Given the description of an element on the screen output the (x, y) to click on. 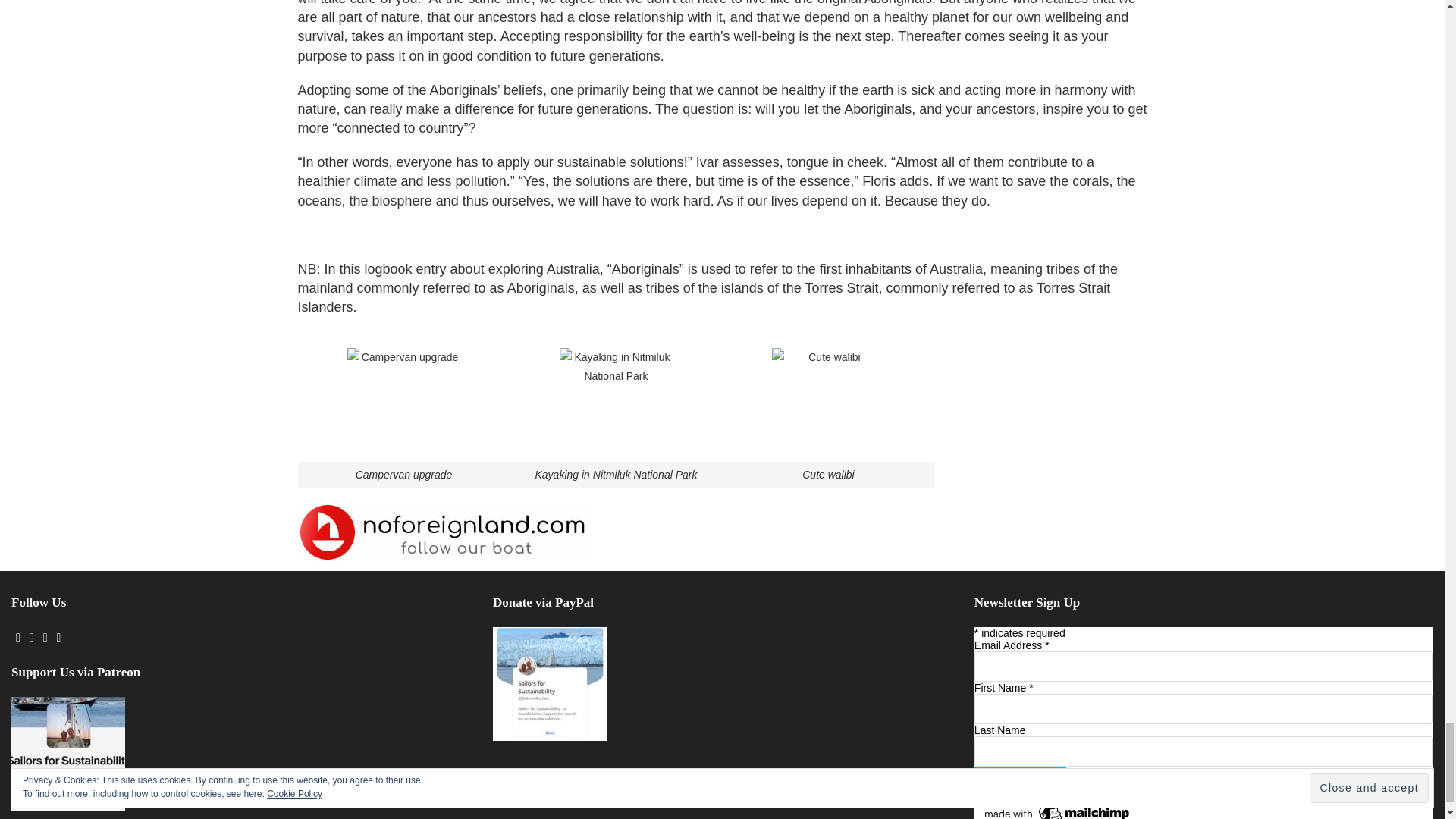
Support Us via Patreon (68, 753)
Mailchimp - email marketing made easy and fun (1057, 811)
Subscribe (1019, 781)
Donate via PayPal (550, 684)
